Given the description of an element on the screen output the (x, y) to click on. 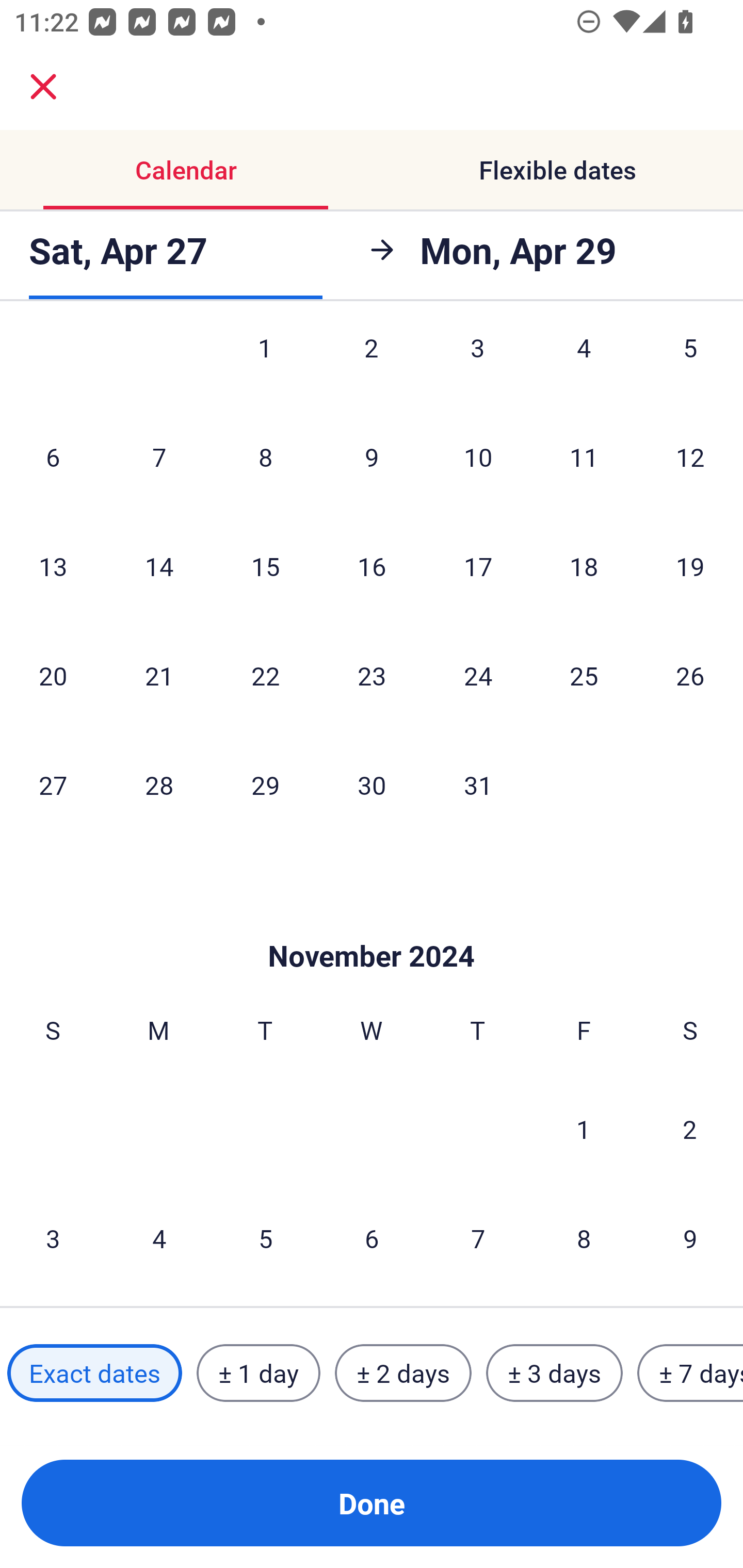
close. (43, 86)
Flexible dates (557, 170)
1 Tuesday, October 1, 2024 (264, 364)
2 Wednesday, October 2, 2024 (371, 364)
3 Thursday, October 3, 2024 (477, 364)
4 Friday, October 4, 2024 (584, 364)
5 Saturday, October 5, 2024 (690, 364)
6 Sunday, October 6, 2024 (53, 456)
7 Monday, October 7, 2024 (159, 456)
8 Tuesday, October 8, 2024 (265, 456)
9 Wednesday, October 9, 2024 (371, 456)
10 Thursday, October 10, 2024 (477, 456)
11 Friday, October 11, 2024 (584, 456)
12 Saturday, October 12, 2024 (690, 456)
13 Sunday, October 13, 2024 (53, 565)
14 Monday, October 14, 2024 (159, 565)
15 Tuesday, October 15, 2024 (265, 565)
16 Wednesday, October 16, 2024 (371, 565)
17 Thursday, October 17, 2024 (477, 565)
18 Friday, October 18, 2024 (584, 565)
19 Saturday, October 19, 2024 (690, 565)
20 Sunday, October 20, 2024 (53, 674)
21 Monday, October 21, 2024 (159, 674)
22 Tuesday, October 22, 2024 (265, 674)
23 Wednesday, October 23, 2024 (371, 674)
24 Thursday, October 24, 2024 (477, 674)
25 Friday, October 25, 2024 (584, 674)
26 Saturday, October 26, 2024 (690, 674)
27 Sunday, October 27, 2024 (53, 784)
28 Monday, October 28, 2024 (159, 784)
29 Tuesday, October 29, 2024 (265, 784)
30 Wednesday, October 30, 2024 (371, 784)
31 Thursday, October 31, 2024 (477, 784)
Skip to Done (371, 925)
1 Friday, November 1, 2024 (583, 1128)
2 Saturday, November 2, 2024 (689, 1128)
3 Sunday, November 3, 2024 (53, 1237)
4 Monday, November 4, 2024 (159, 1237)
5 Tuesday, November 5, 2024 (265, 1237)
6 Wednesday, November 6, 2024 (371, 1237)
7 Thursday, November 7, 2024 (477, 1237)
8 Friday, November 8, 2024 (584, 1237)
9 Saturday, November 9, 2024 (690, 1237)
Exact dates (94, 1372)
± 1 day (258, 1372)
± 2 days (403, 1372)
± 3 days (553, 1372)
± 7 days (690, 1372)
Done (371, 1502)
